Given the description of an element on the screen output the (x, y) to click on. 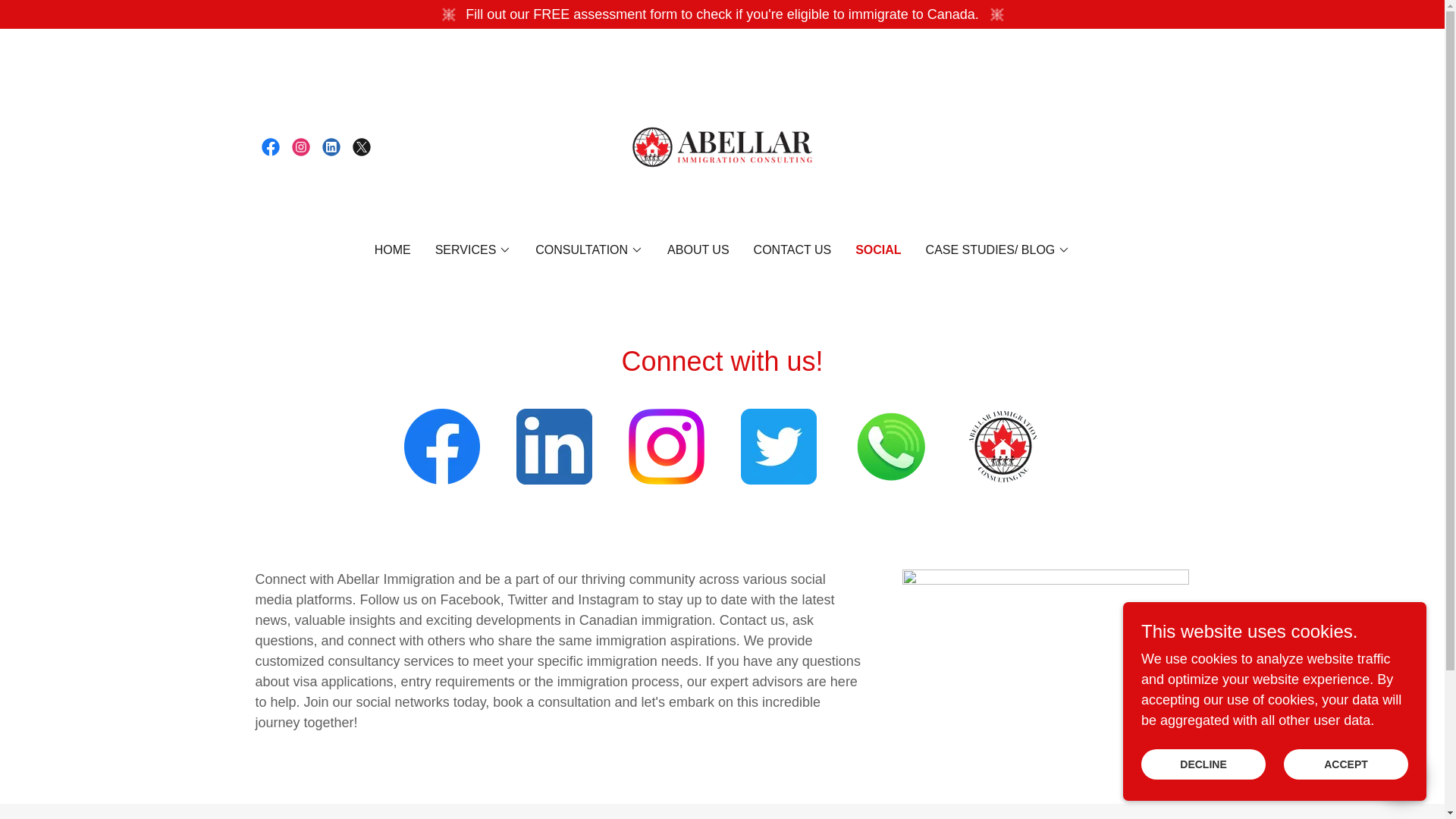
SERVICES (473, 249)
CONTACT US (792, 249)
Abellar Immigration Consulting (722, 145)
HOME (391, 249)
SOCIAL (878, 249)
ABOUT US (697, 249)
CONSULTATION (589, 249)
